Given the description of an element on the screen output the (x, y) to click on. 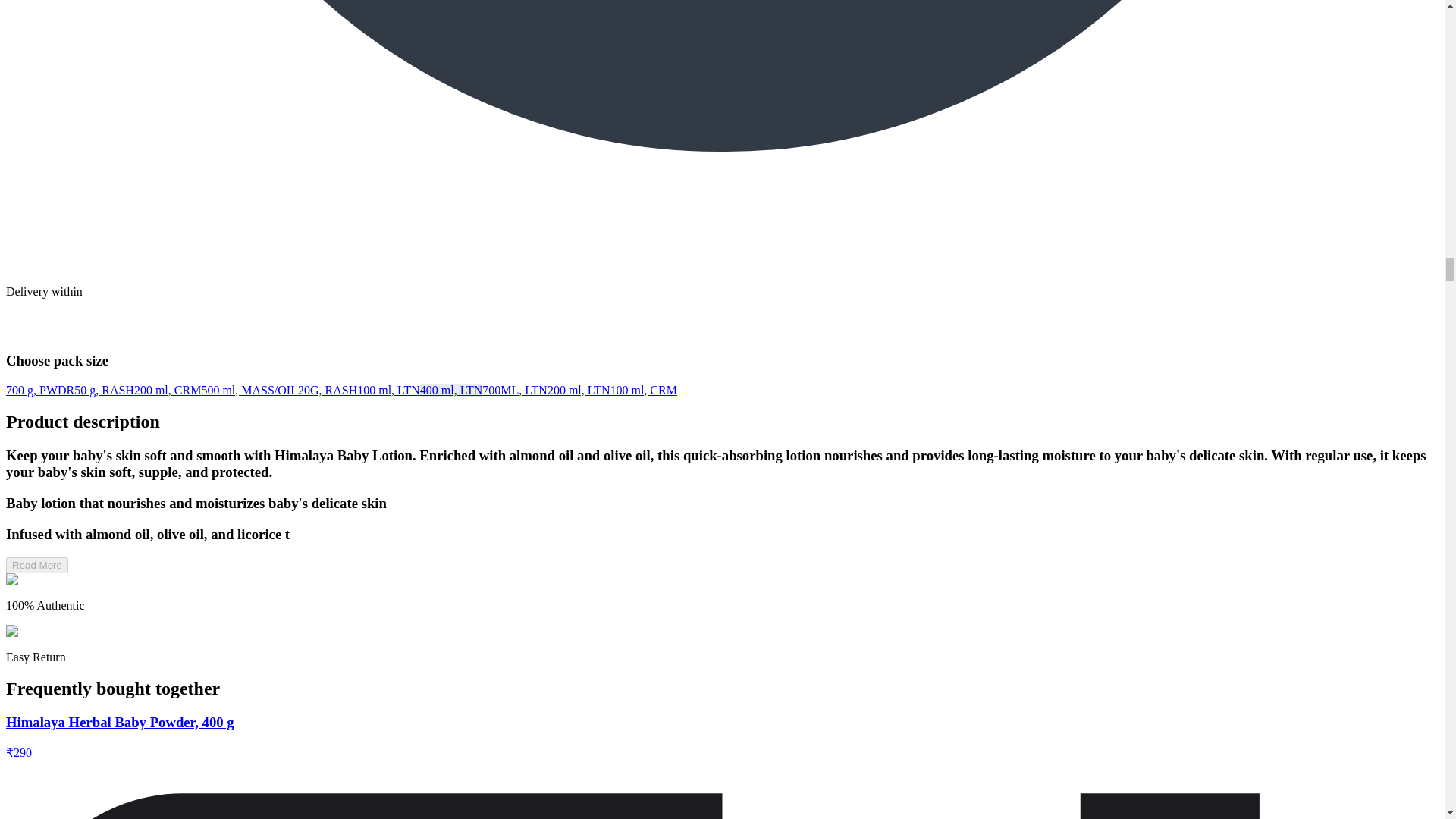
20G, RASH (327, 390)
400 ml, LTN (451, 390)
200 ml, LTN (578, 390)
200 ml, CRM (166, 390)
100 ml, LTN (388, 390)
700ML, LTN (514, 390)
700 g, PWDR (39, 390)
100 ml, CRM (643, 390)
50 g, RASH (103, 390)
Read More (36, 565)
